Given the description of an element on the screen output the (x, y) to click on. 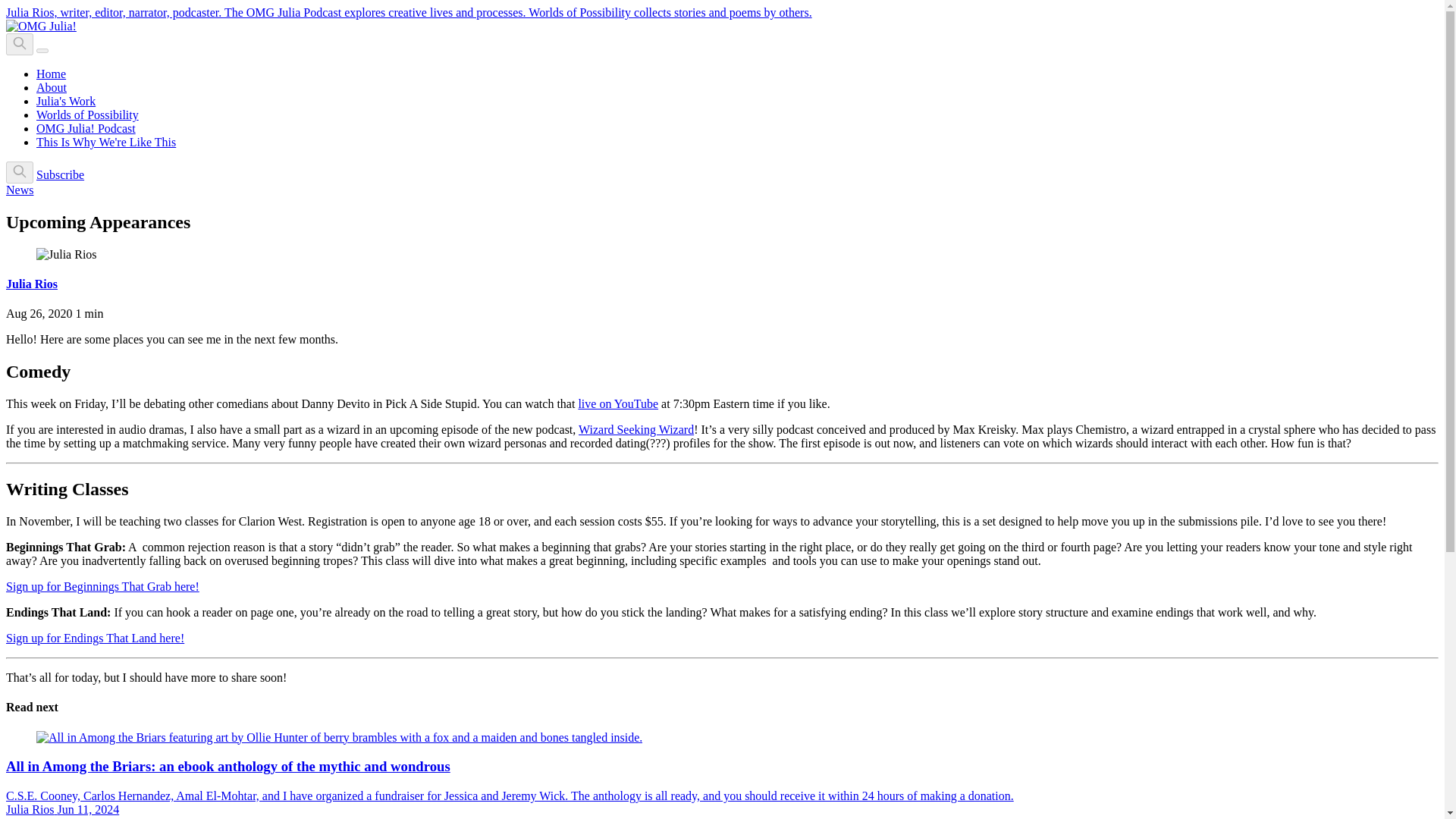
About (51, 87)
Sign up for Beginnings That Grab here! (102, 585)
Julia Rios (31, 283)
Wizard Seeking Wizard (636, 429)
This Is Why We're Like This (106, 141)
Julia's Work (66, 101)
OMG Julia! Podcast (85, 128)
Sign up for Endings That Land here! (94, 637)
News (19, 189)
Subscribe (60, 174)
live on YouTube (618, 403)
Home (50, 73)
Worlds of Possibility (87, 114)
